Given the description of an element on the screen output the (x, y) to click on. 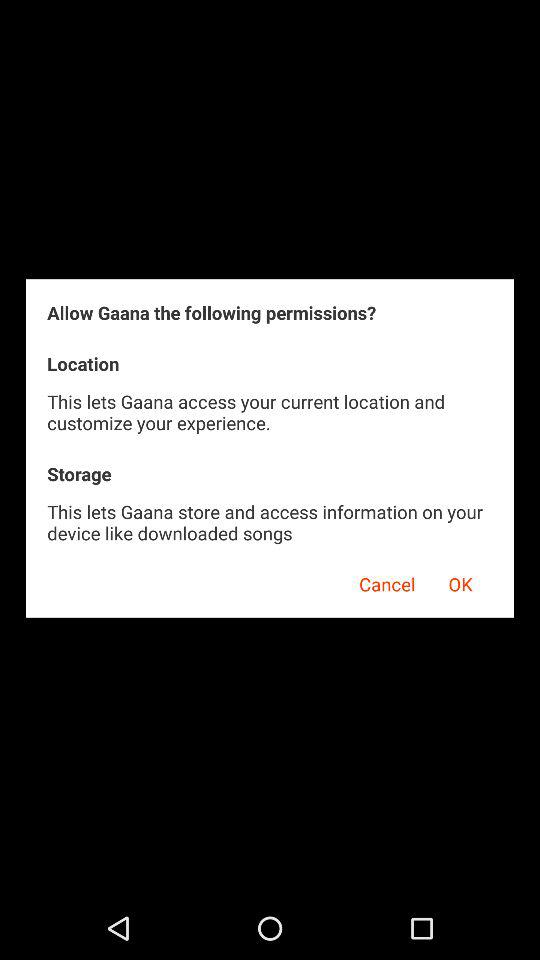
launch app to the right of cancel item (460, 581)
